Given the description of an element on the screen output the (x, y) to click on. 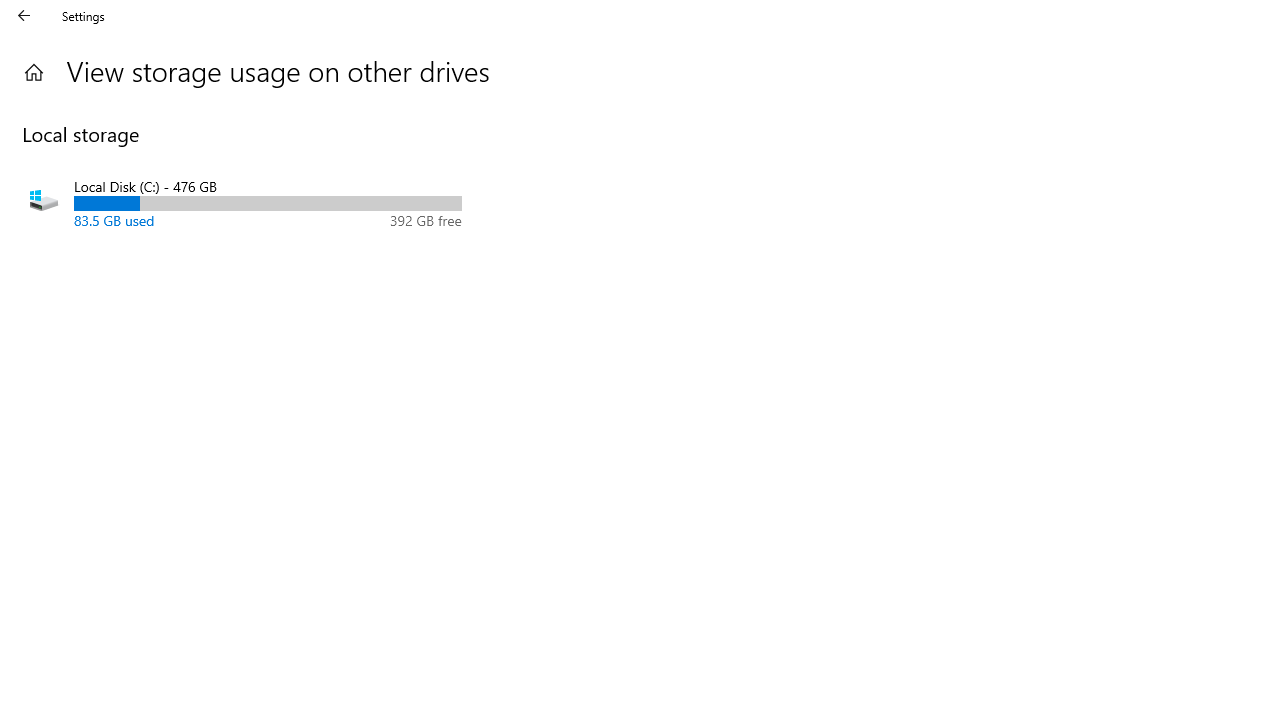
Home (33, 71)
Back (24, 15)
